Given the description of an element on the screen output the (x, y) to click on. 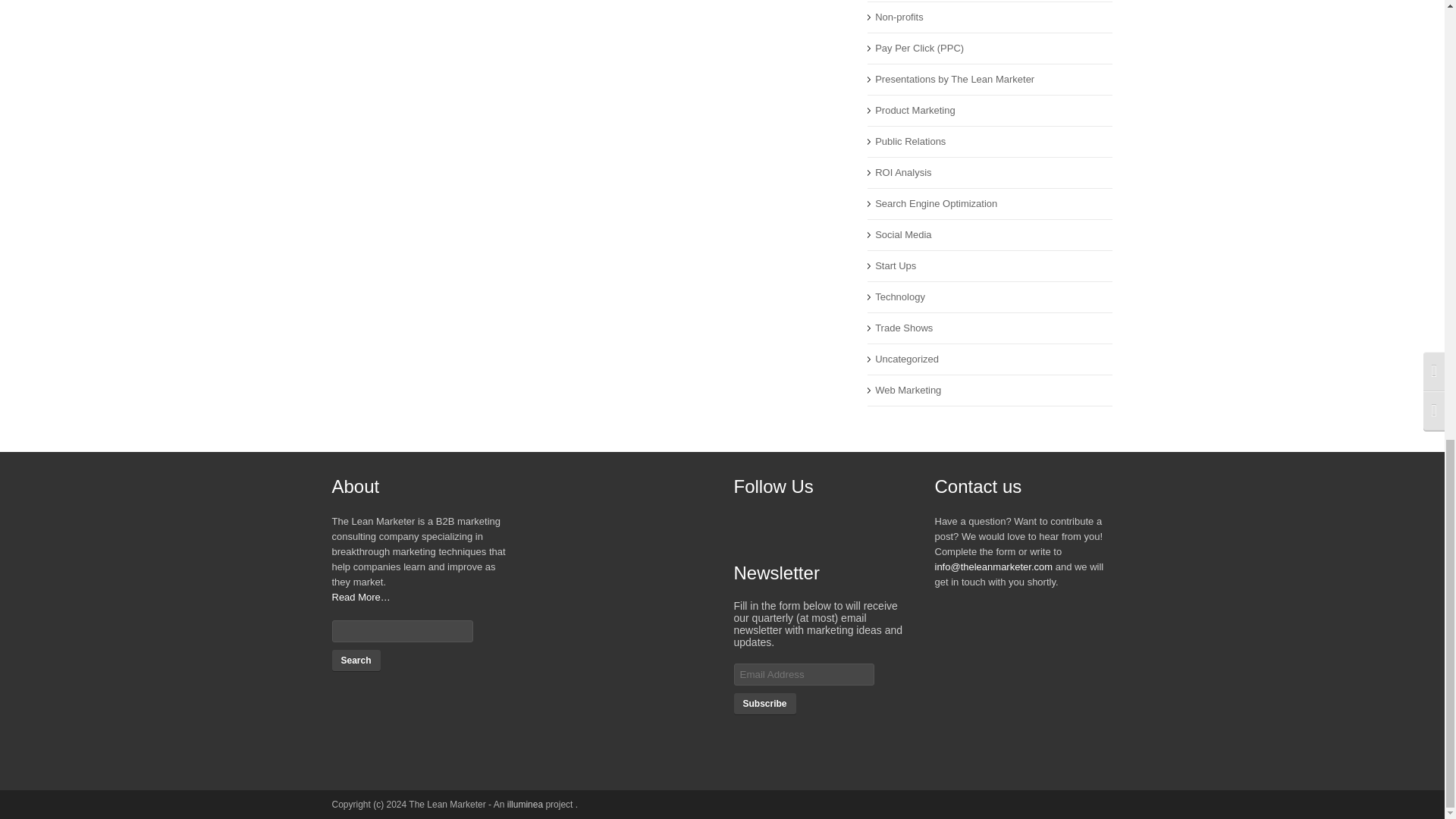
Search (355, 660)
Subscribe (764, 703)
